Given the description of an element on the screen output the (x, y) to click on. 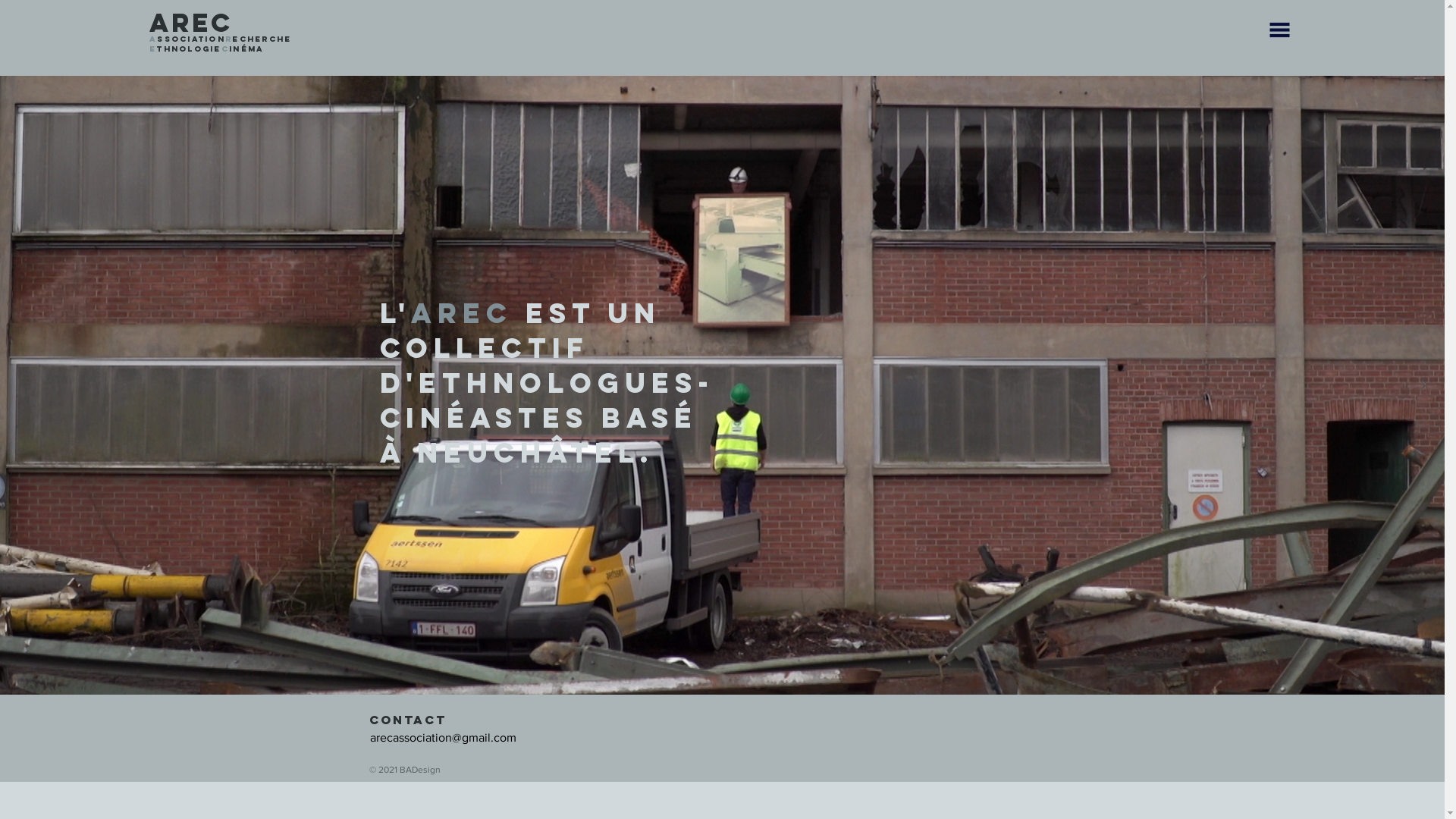
AssociationRecherche Element type: text (220, 38)
AREC Element type: text (190, 23)
arecassociation@gmail.com Element type: text (443, 737)
